Given the description of an element on the screen output the (x, y) to click on. 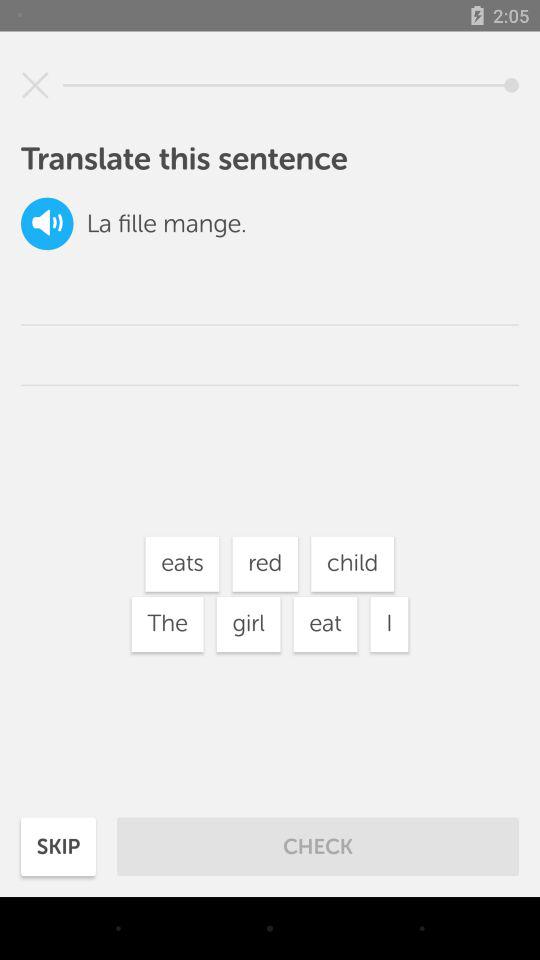
open the item below the eats (248, 624)
